Given the description of an element on the screen output the (x, y) to click on. 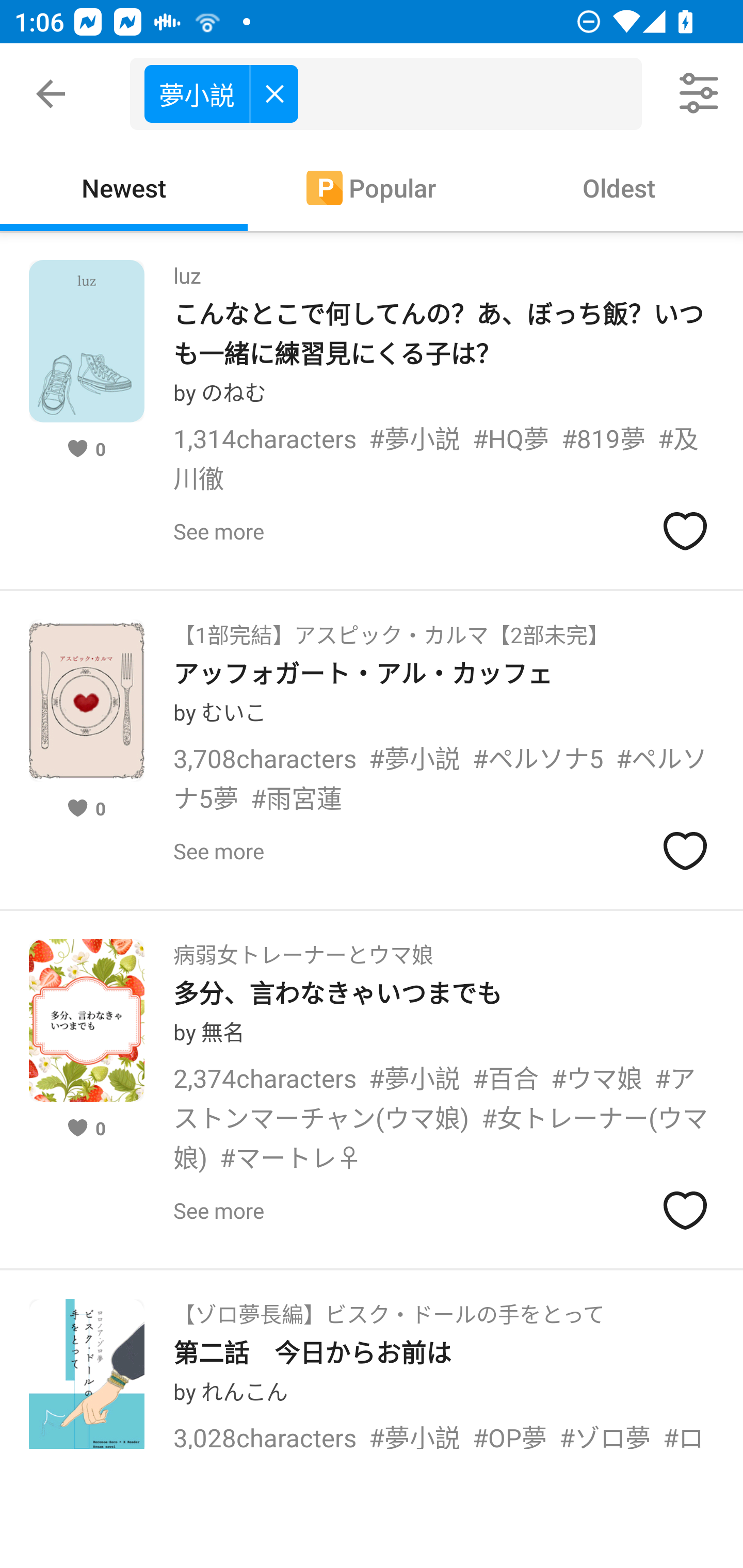
Navigate up (50, 93)
Filters (699, 93)
夢小説 (392, 94)
夢小説 (220, 93)
[P] Popular (371, 187)
Oldest (619, 187)
luz (187, 269)
【1部完結】アスピック・カルマ【2部未完】 (391, 628)
病弱女トレーナーとウマ娘 (303, 948)
【ゾロ夢長編】ビスク・ドールの手をとって (388, 1308)
